Given the description of an element on the screen output the (x, y) to click on. 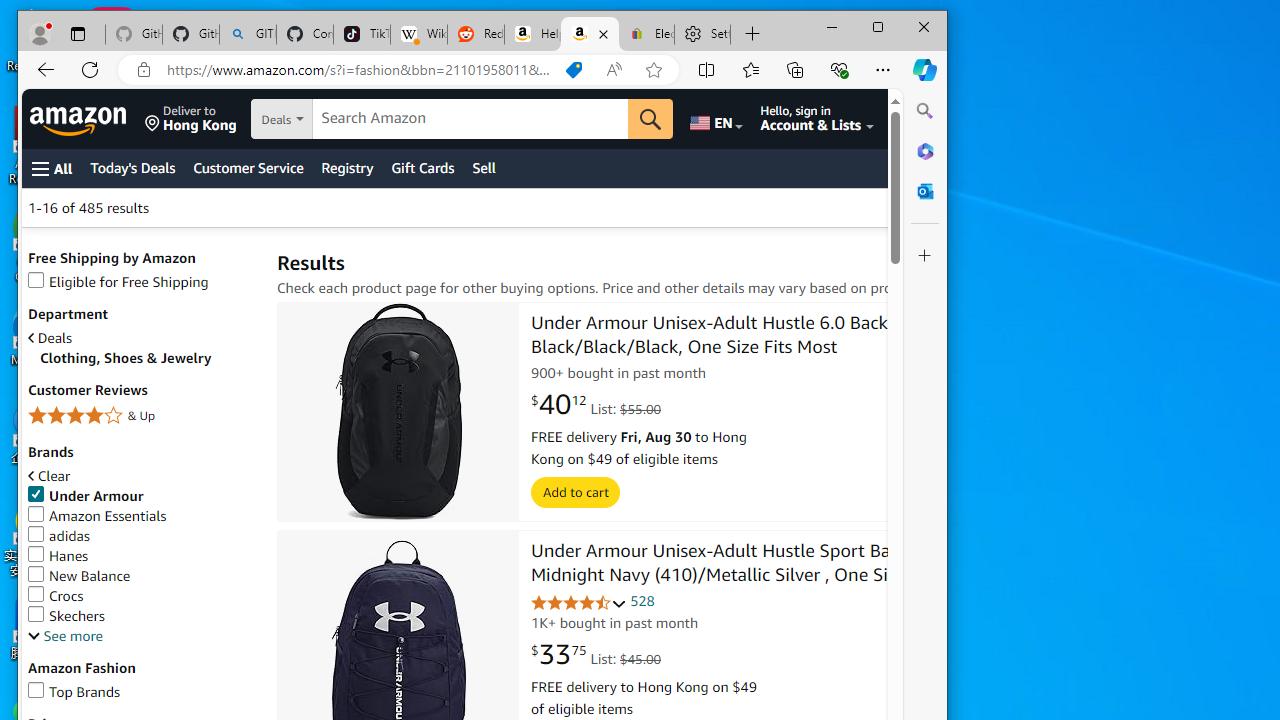
Sort by: (957, 207)
Under Armour (142, 496)
Search in (350, 120)
4.7 out of 5 stars (579, 603)
Deals (50, 338)
Deals (142, 338)
Registry (347, 168)
